Given the description of an element on the screen output the (x, y) to click on. 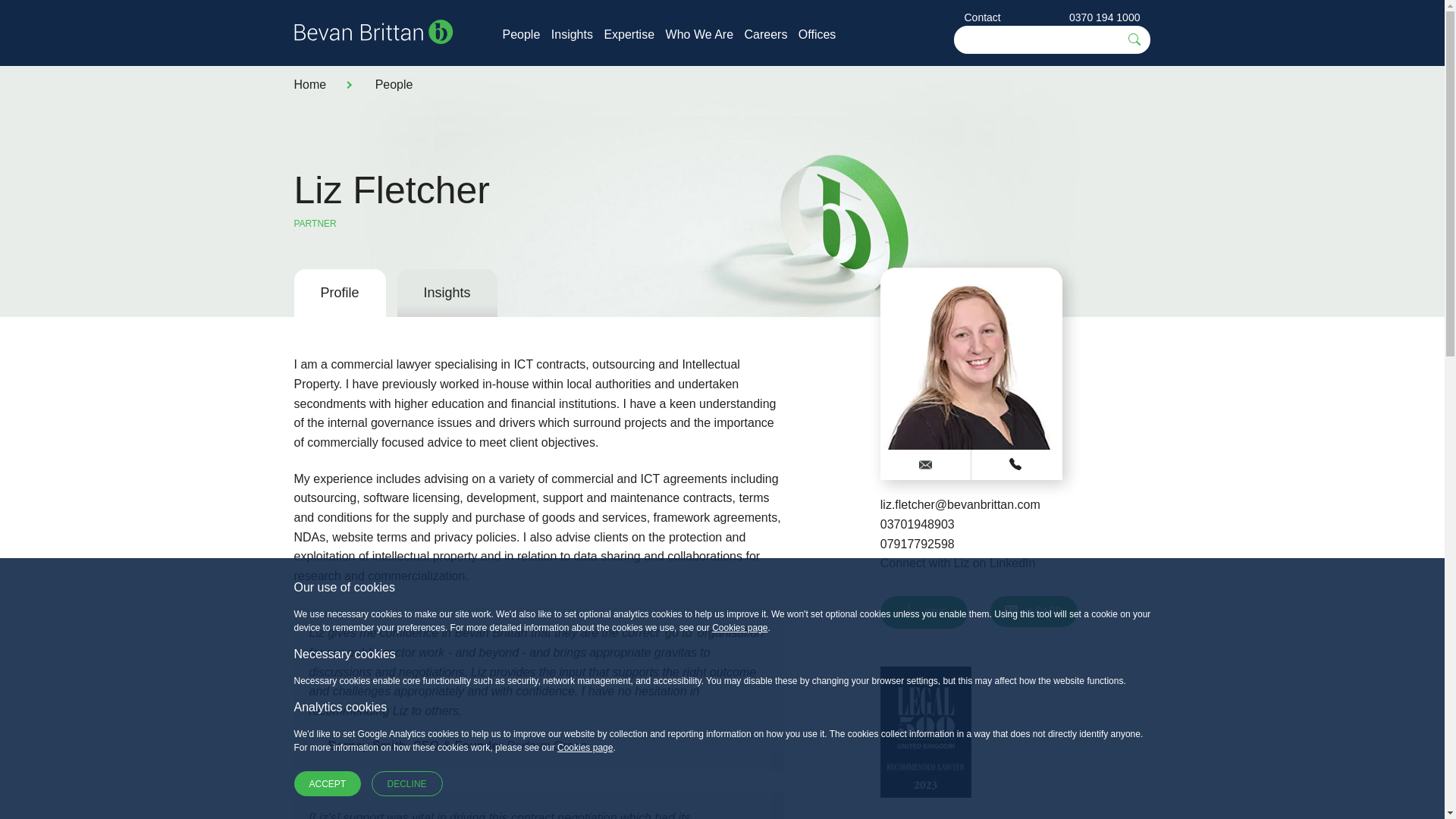
Connect with Liz on LinkedIn (957, 562)
Contact (982, 17)
Insights (571, 33)
Home (310, 83)
03701948903 (917, 523)
07917792598 (917, 543)
Careers (765, 33)
PDF (924, 612)
V-CARD (1033, 611)
Who We Are (699, 33)
